Given the description of an element on the screen output the (x, y) to click on. 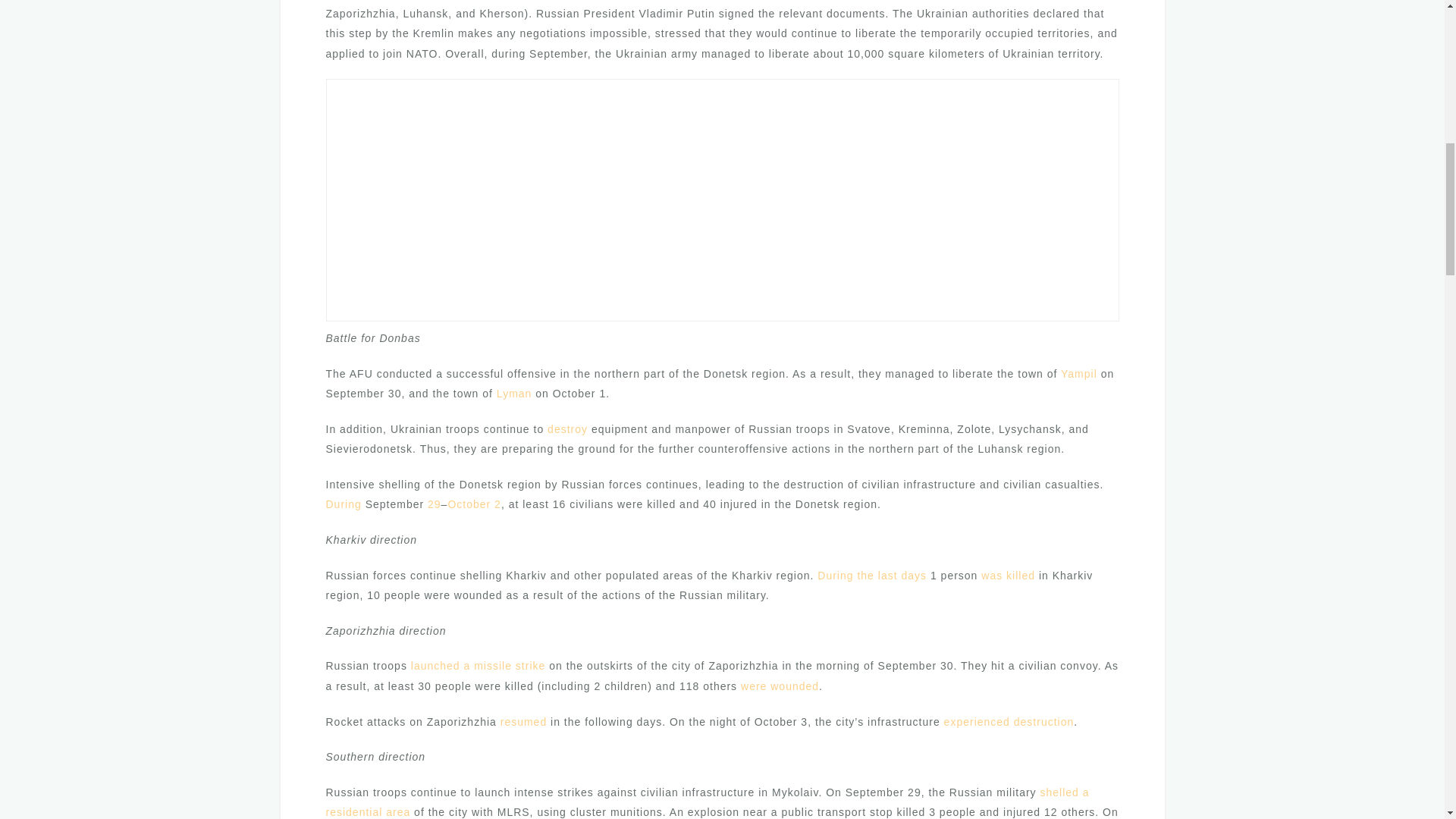
experienced destruction (1008, 721)
launched a missile strike (478, 665)
were wounded (779, 686)
shelled a residential area (707, 802)
resumed (523, 721)
was killed (1008, 575)
Yampil (1079, 372)
October (468, 503)
During (834, 575)
the last (876, 575)
destroy (567, 428)
Lyman (514, 393)
29 (434, 503)
days (913, 575)
During (343, 503)
